Given the description of an element on the screen output the (x, y) to click on. 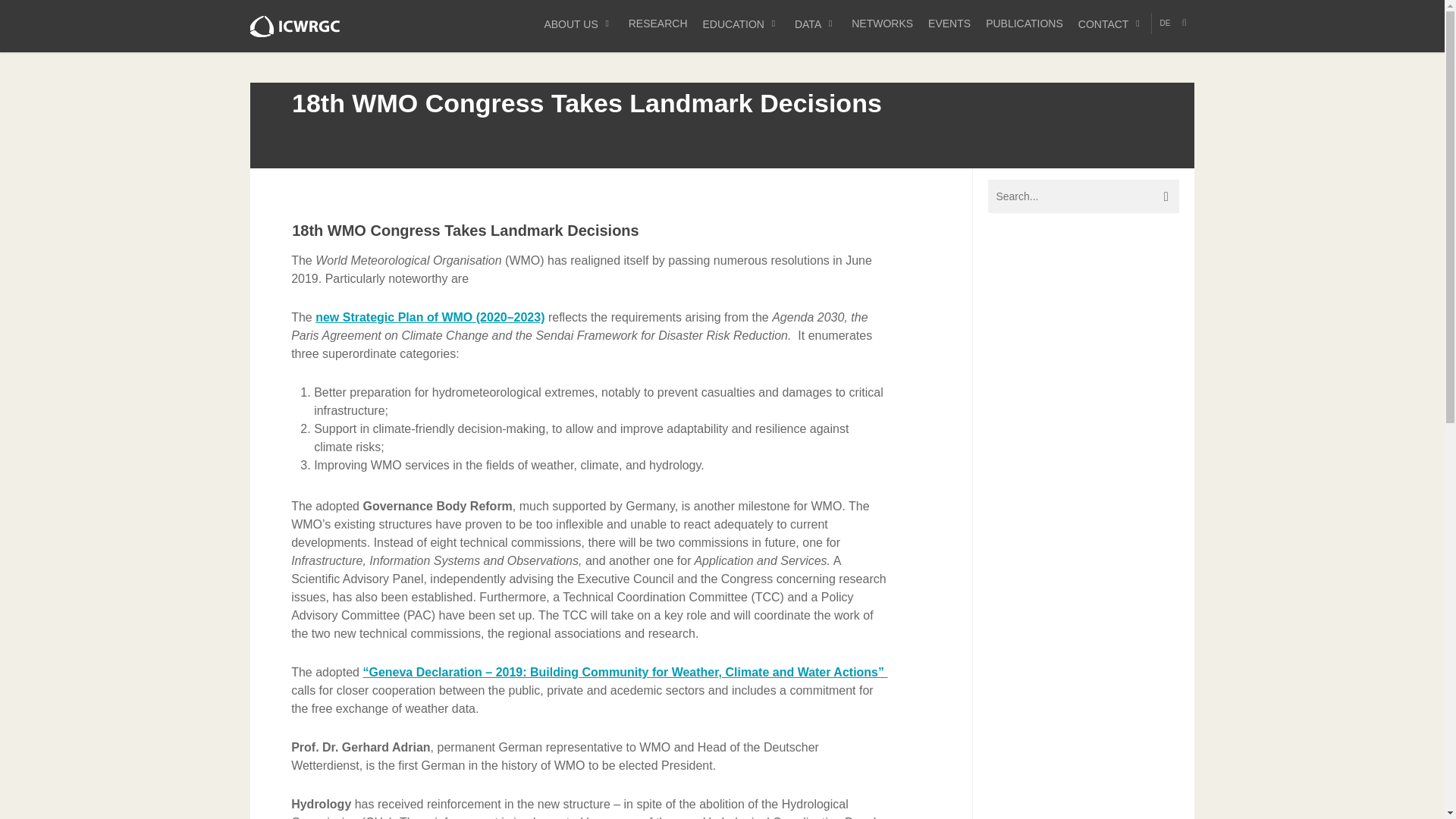
NETWORKS (882, 23)
ABOUT US (577, 23)
Search for: (1083, 195)
CONTACT (1110, 23)
EVENTS (949, 23)
RESEARCH (658, 23)
DATA (815, 23)
PUBLICATIONS (1024, 23)
Search (1185, 23)
EDUCATION (741, 23)
DE (1164, 23)
